Given the description of an element on the screen output the (x, y) to click on. 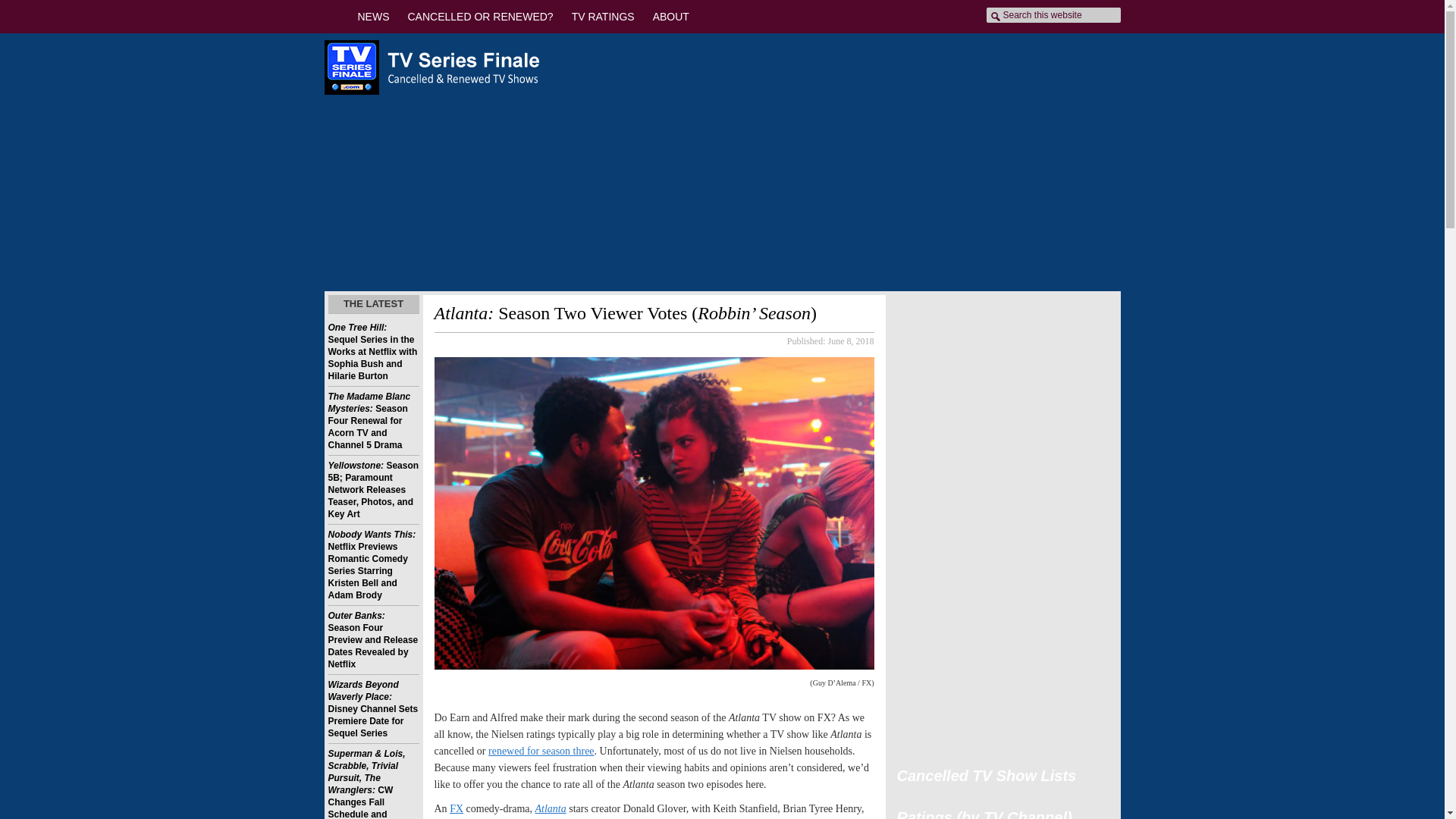
Atlanta (550, 808)
NEWS (373, 16)
FX (456, 808)
renewed for season three (540, 750)
ABOUT (670, 16)
CANCELLED OR RENEWED? (480, 16)
TV RATINGS (602, 16)
